Given the description of an element on the screen output the (x, y) to click on. 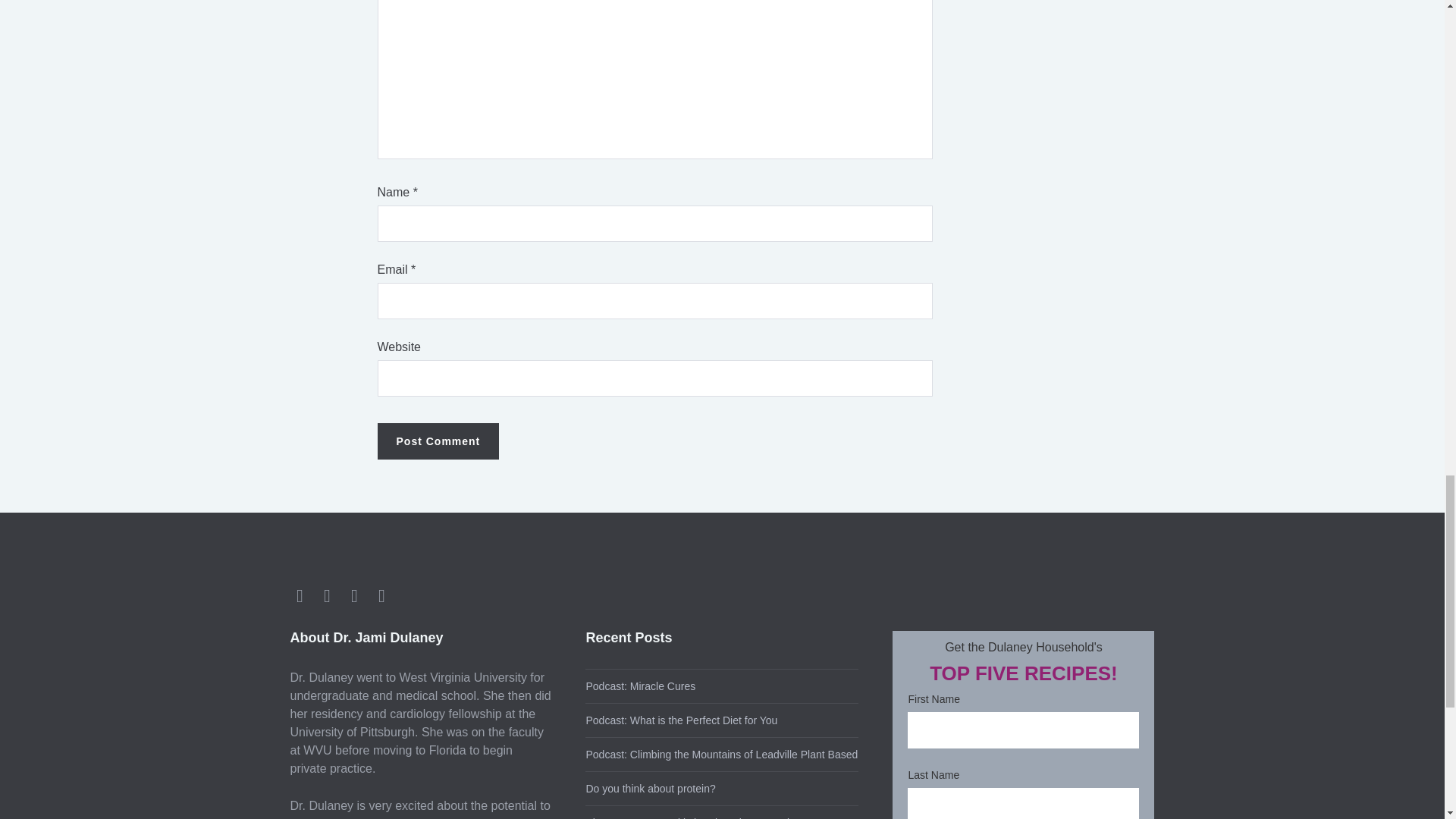
Post Comment (438, 441)
